Given the description of an element on the screen output the (x, y) to click on. 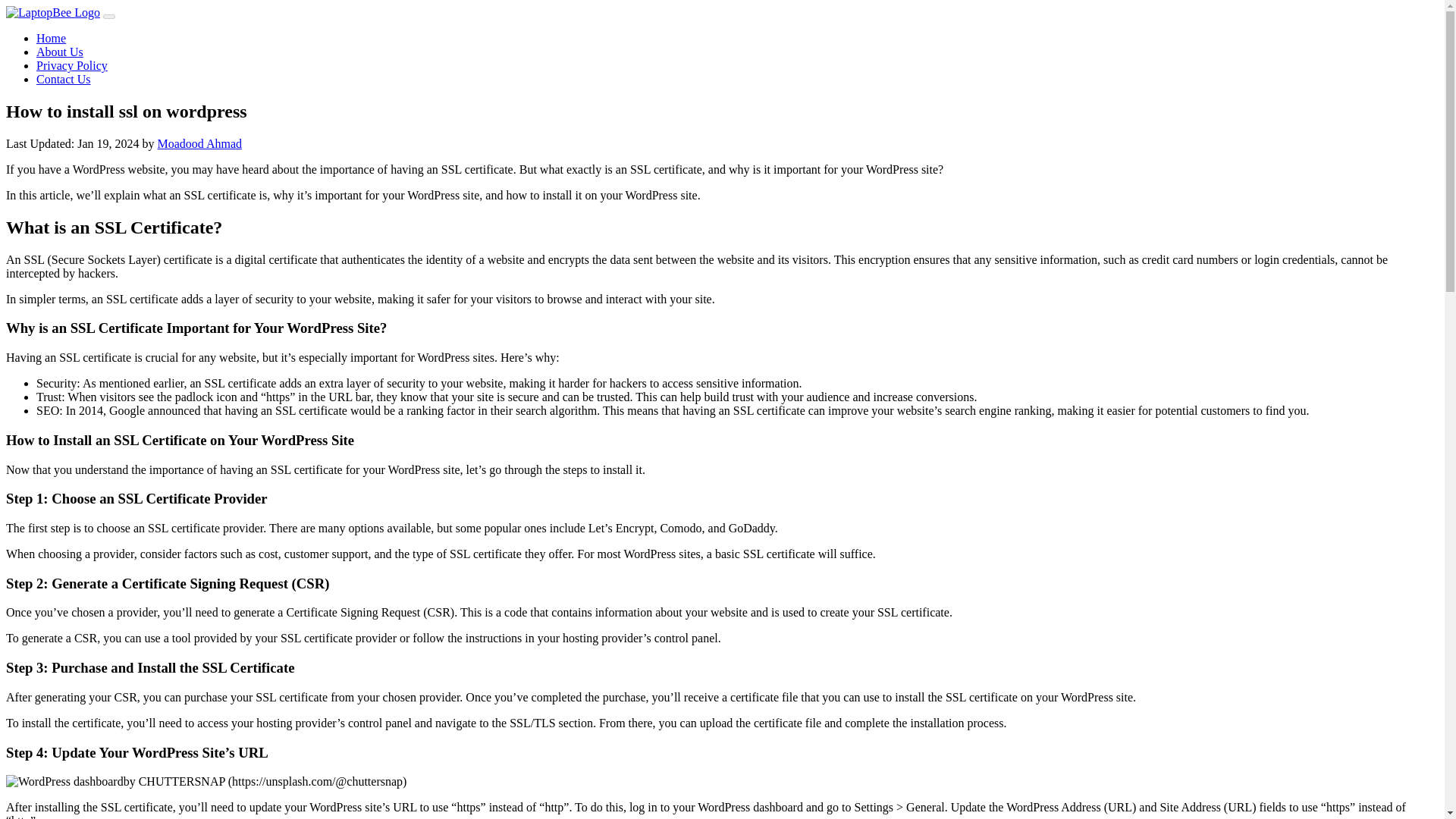
Contact Us (63, 78)
Posts by Moadood Ahmad (200, 143)
Home (50, 38)
About Us (59, 51)
Privacy Policy (71, 65)
Moadood Ahmad (200, 143)
